Given the description of an element on the screen output the (x, y) to click on. 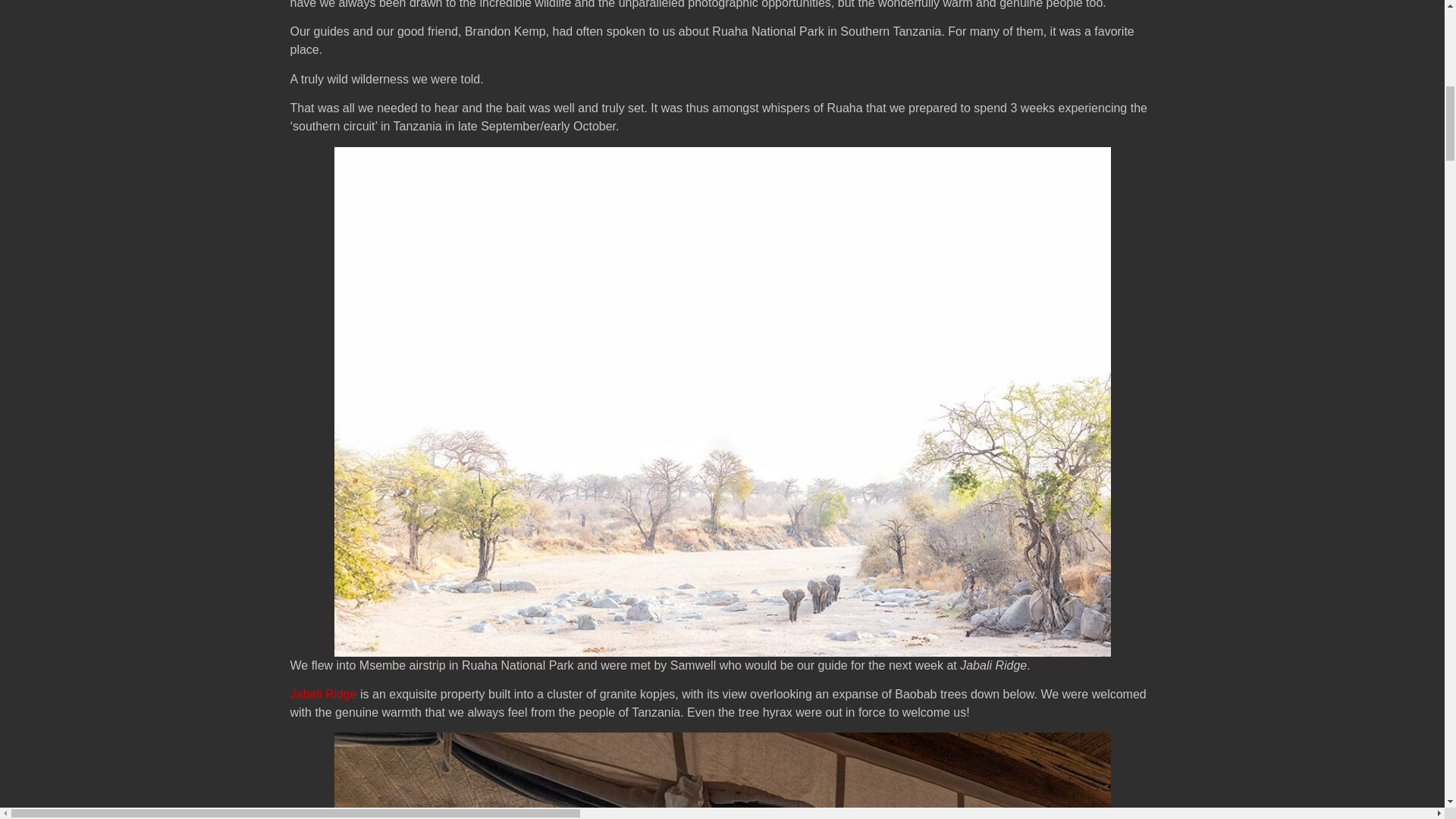
Jabali Ridge (322, 694)
